Given the description of an element on the screen output the (x, y) to click on. 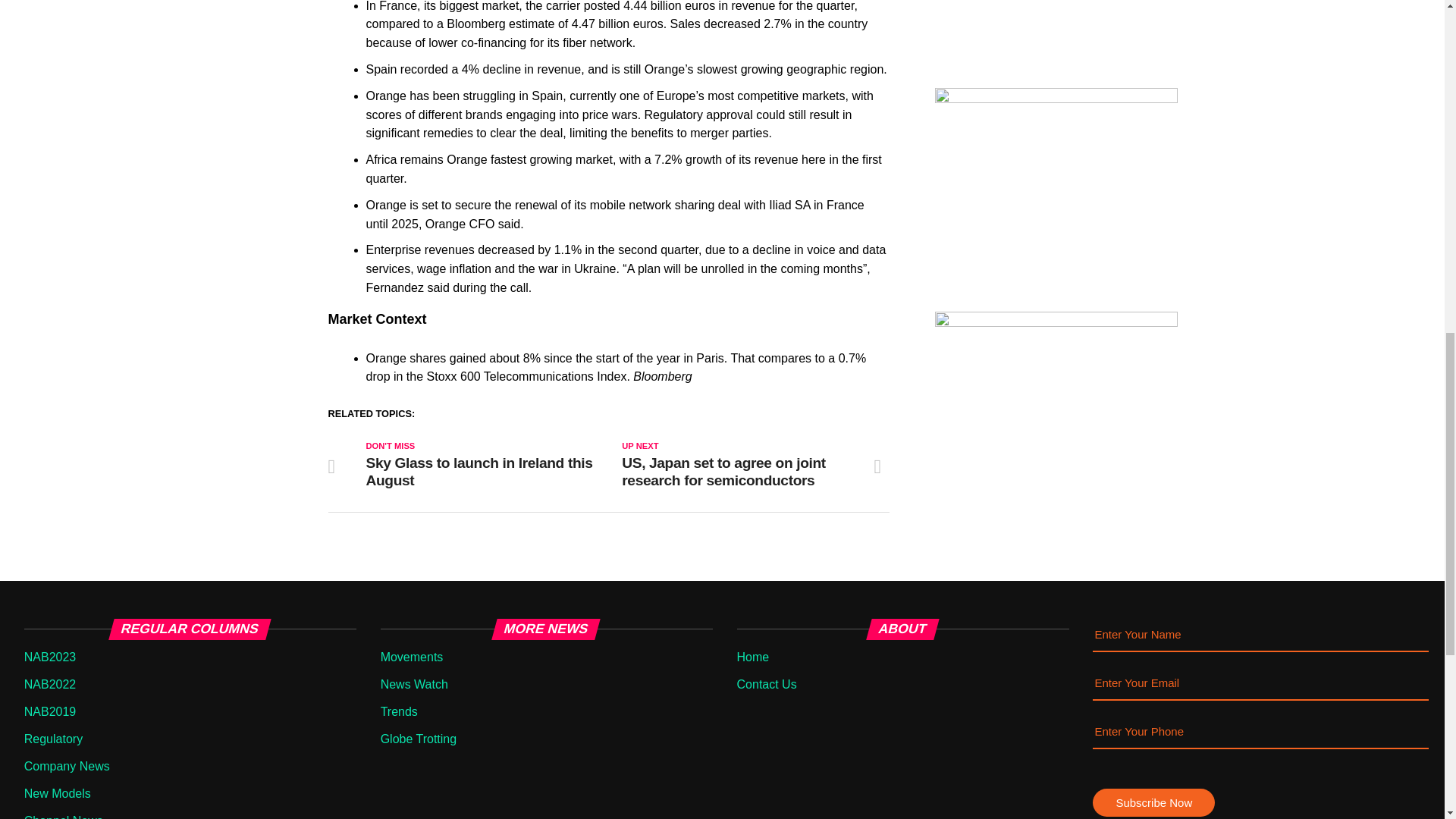
Subscribe Now (1153, 802)
